Given the description of an element on the screen output the (x, y) to click on. 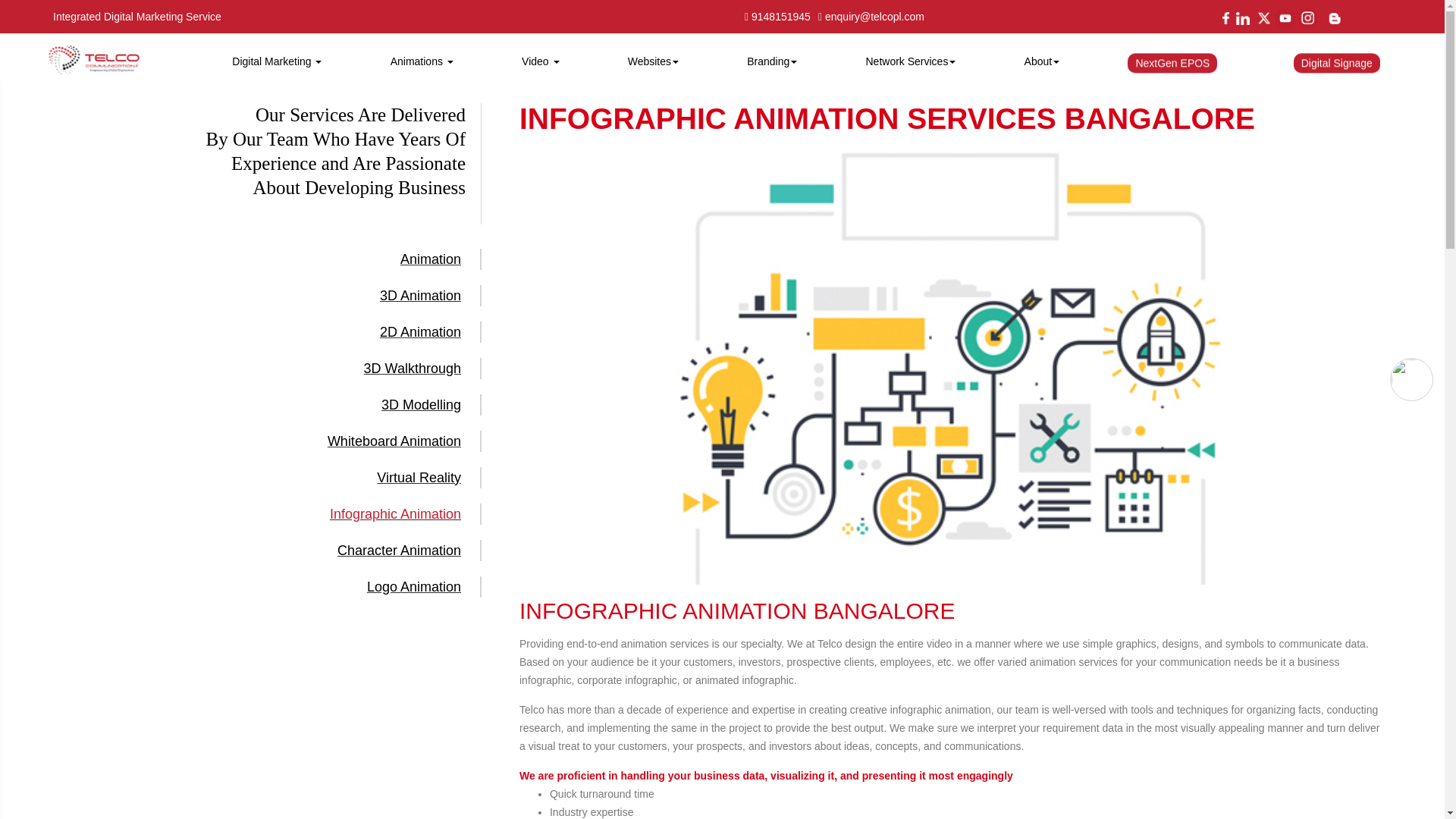
Digital Marketing (276, 60)
Animations (421, 60)
Video (540, 60)
9148151945 (777, 16)
Websites (653, 60)
